Given the description of an element on the screen output the (x, y) to click on. 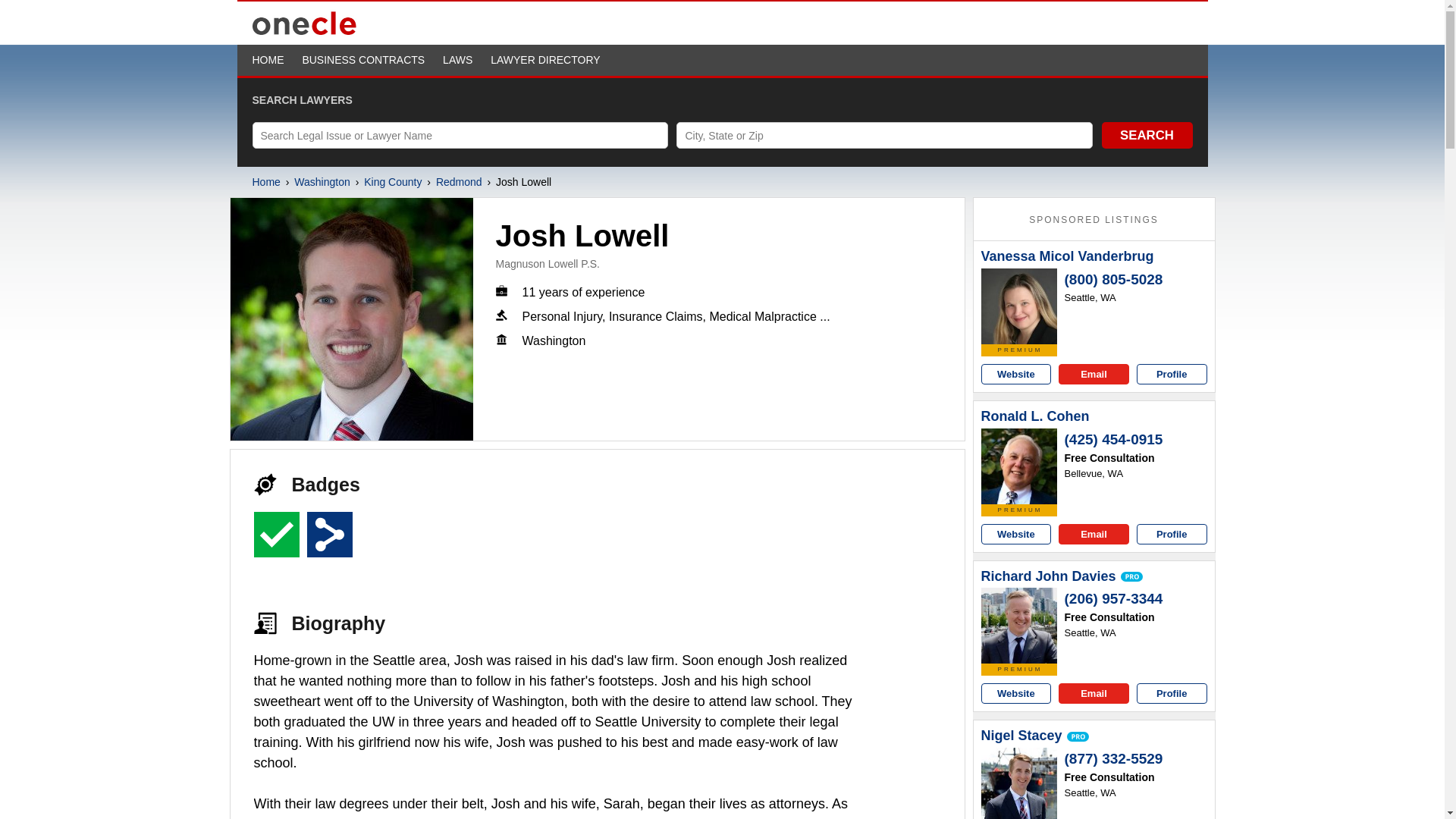
LAWYER DIRECTORY (544, 60)
Website (1016, 373)
King County (393, 181)
Ronald L. Cohen (1035, 416)
BUSINESS CONTRACTS (363, 60)
Washington (321, 181)
Email (1093, 373)
City, State or Zip (885, 135)
Vanessa Micol Vanderbrug (1067, 256)
Ronald L. Cohen (1019, 466)
Redmond (458, 181)
Vanessa Micol Vanderbrug (1019, 305)
Search Legal Issue or Lawyer Name (459, 135)
OneCLE Lawyer Directory (304, 33)
LAWS (456, 60)
